Given the description of an element on the screen output the (x, y) to click on. 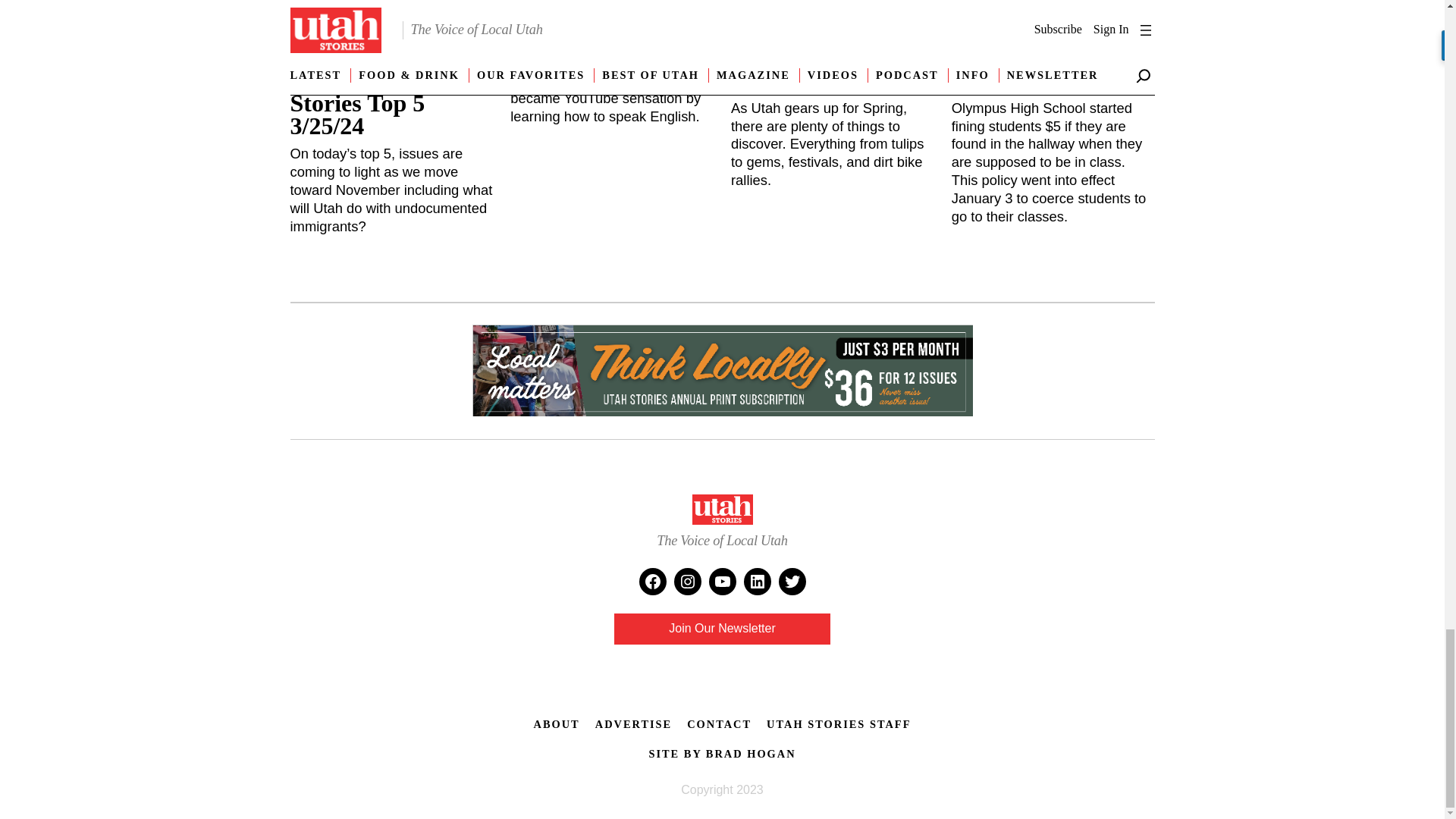
Subscription banner ad (721, 372)
